Given the description of an element on the screen output the (x, y) to click on. 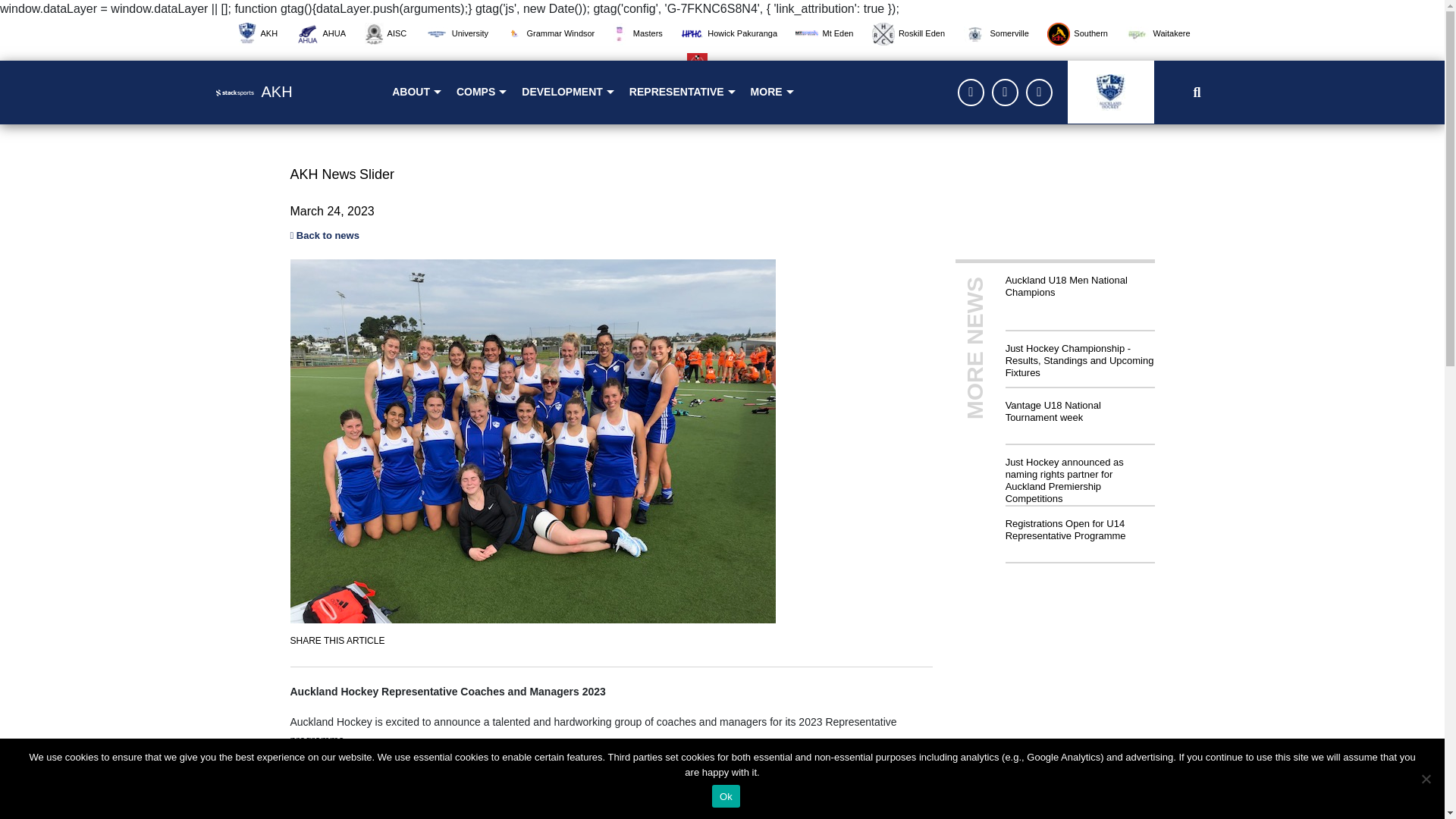
Masters (645, 32)
No (1425, 778)
Waitakere (1165, 32)
Grammar Windsor (558, 32)
AHUA (329, 32)
Somerville (1002, 32)
Mt Eden (830, 32)
AISC (393, 32)
University (464, 32)
Western (722, 62)
Roskill Eden (915, 32)
Howick Pakuranga (736, 32)
Southern (1084, 32)
AKH (265, 32)
